Given the description of an element on the screen output the (x, y) to click on. 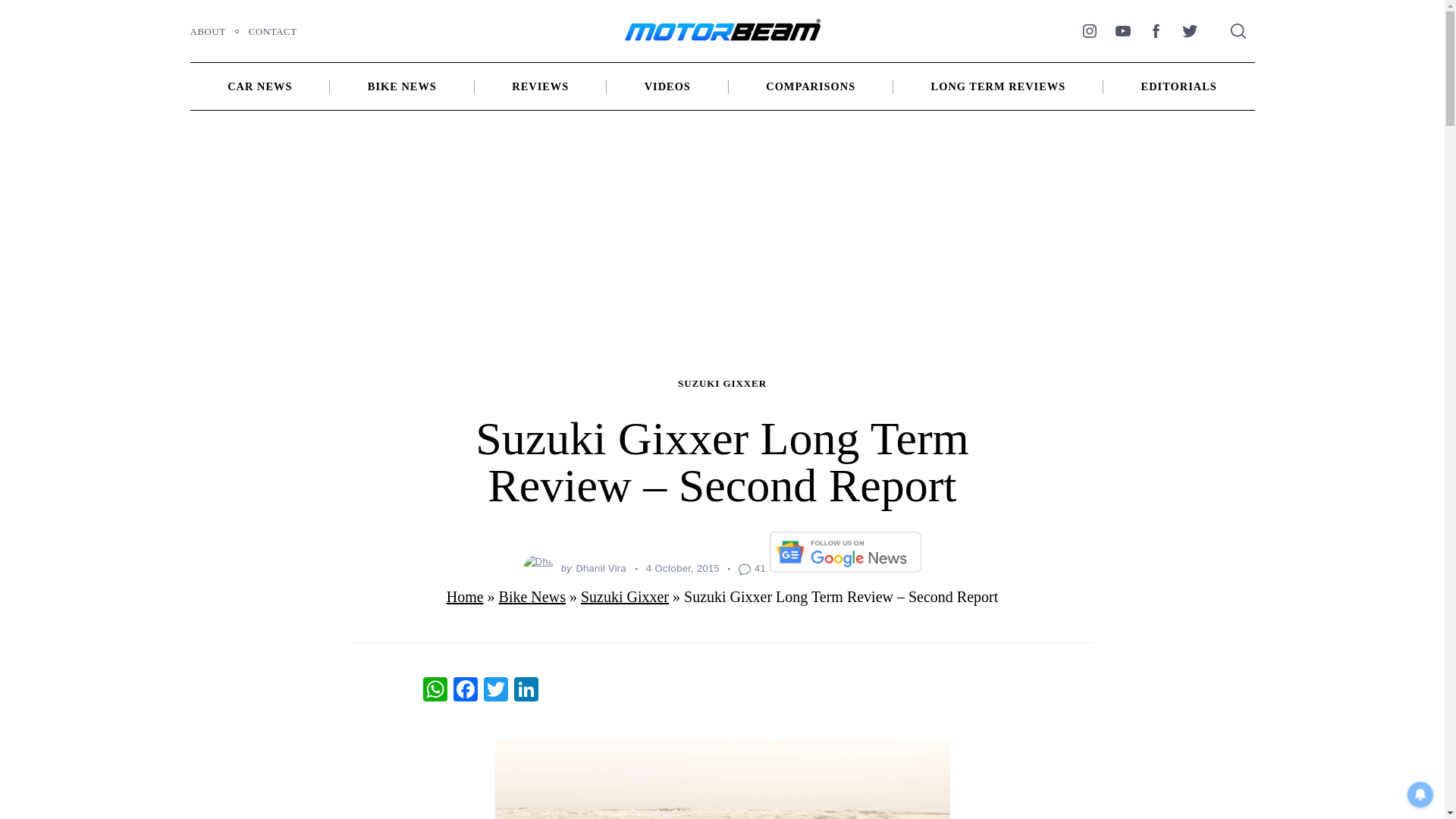
Twitter (1188, 30)
Facebook (464, 691)
VIDEOS (668, 85)
LONG TERM REVIEWS (998, 85)
YouTube (1121, 30)
BIKE NEWS (402, 85)
REVIEWS (540, 85)
CAR NEWS (260, 85)
EDITORIALS (1179, 85)
COMPARISONS (811, 85)
Twitter (495, 691)
LinkedIn (526, 691)
Facebook (1155, 30)
WhatsApp (434, 691)
